Given the description of an element on the screen output the (x, y) to click on. 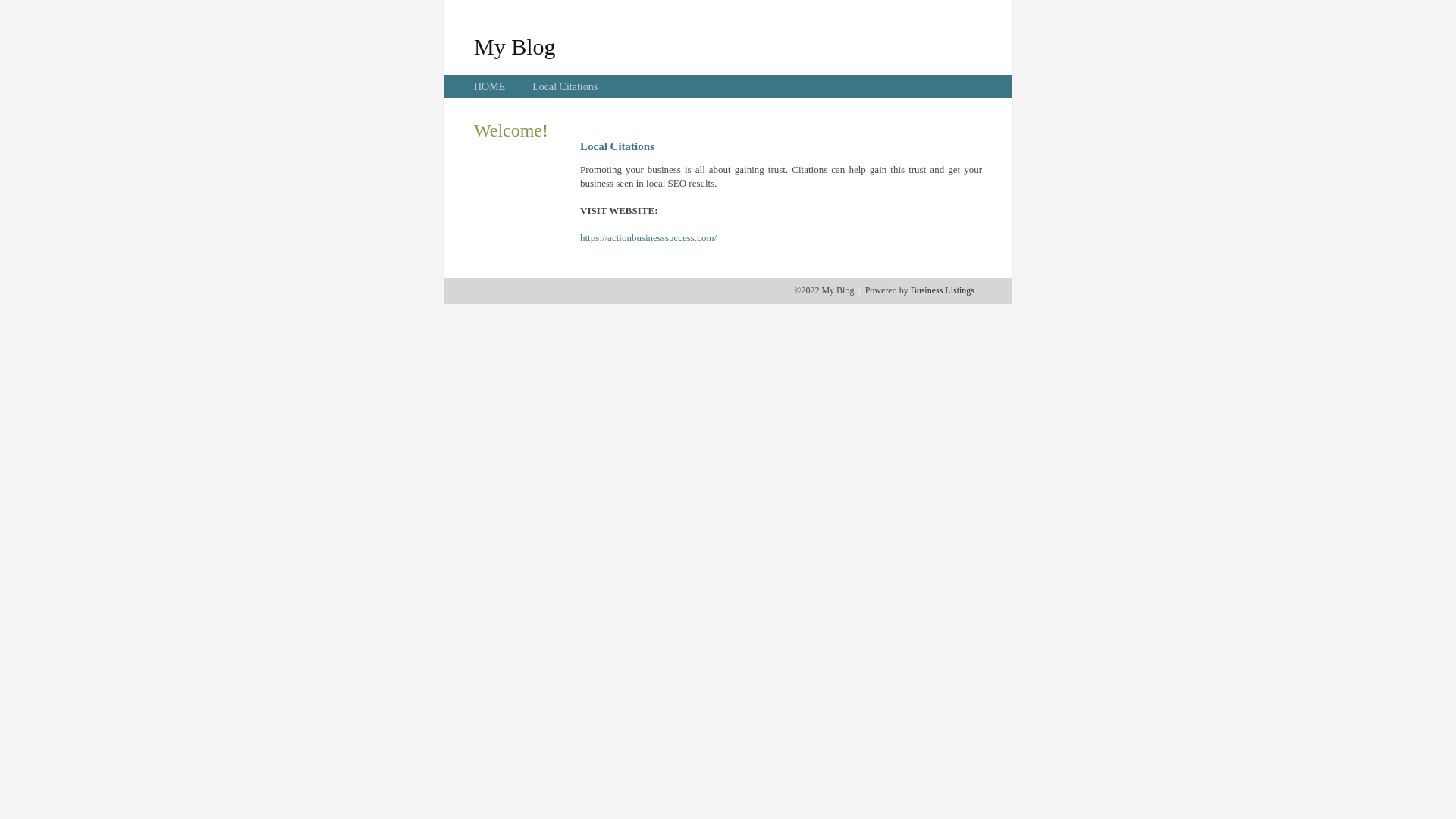
HOME Element type: text (489, 86)
https://actionbusinesssuccess.com/ Element type: text (648, 237)
Local Citations Element type: text (564, 86)
Business Listings Element type: text (942, 290)
My Blog Element type: text (514, 46)
